Given the description of an element on the screen output the (x, y) to click on. 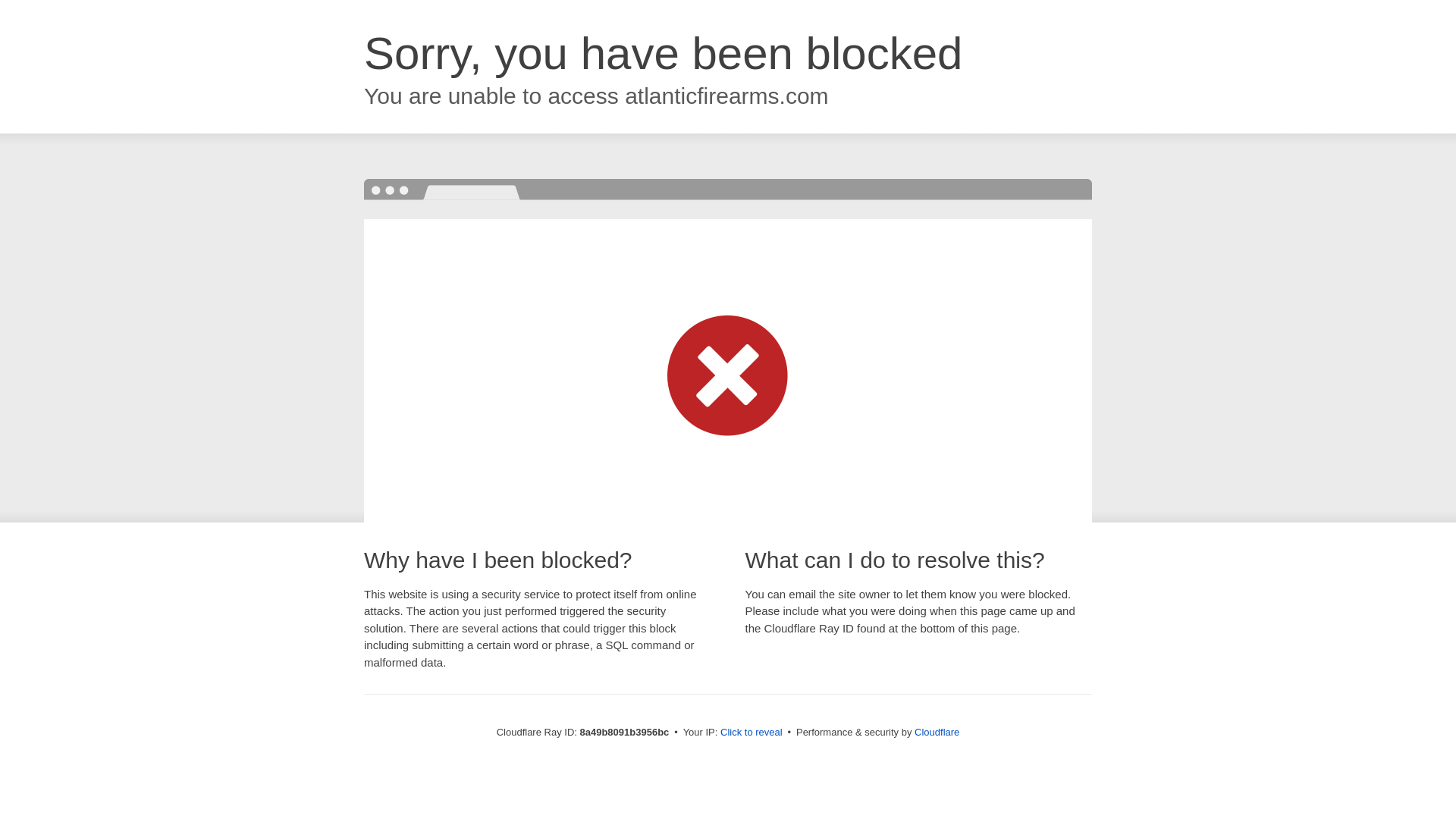
Cloudflare (936, 731)
Click to reveal (751, 732)
